Given the description of an element on the screen output the (x, y) to click on. 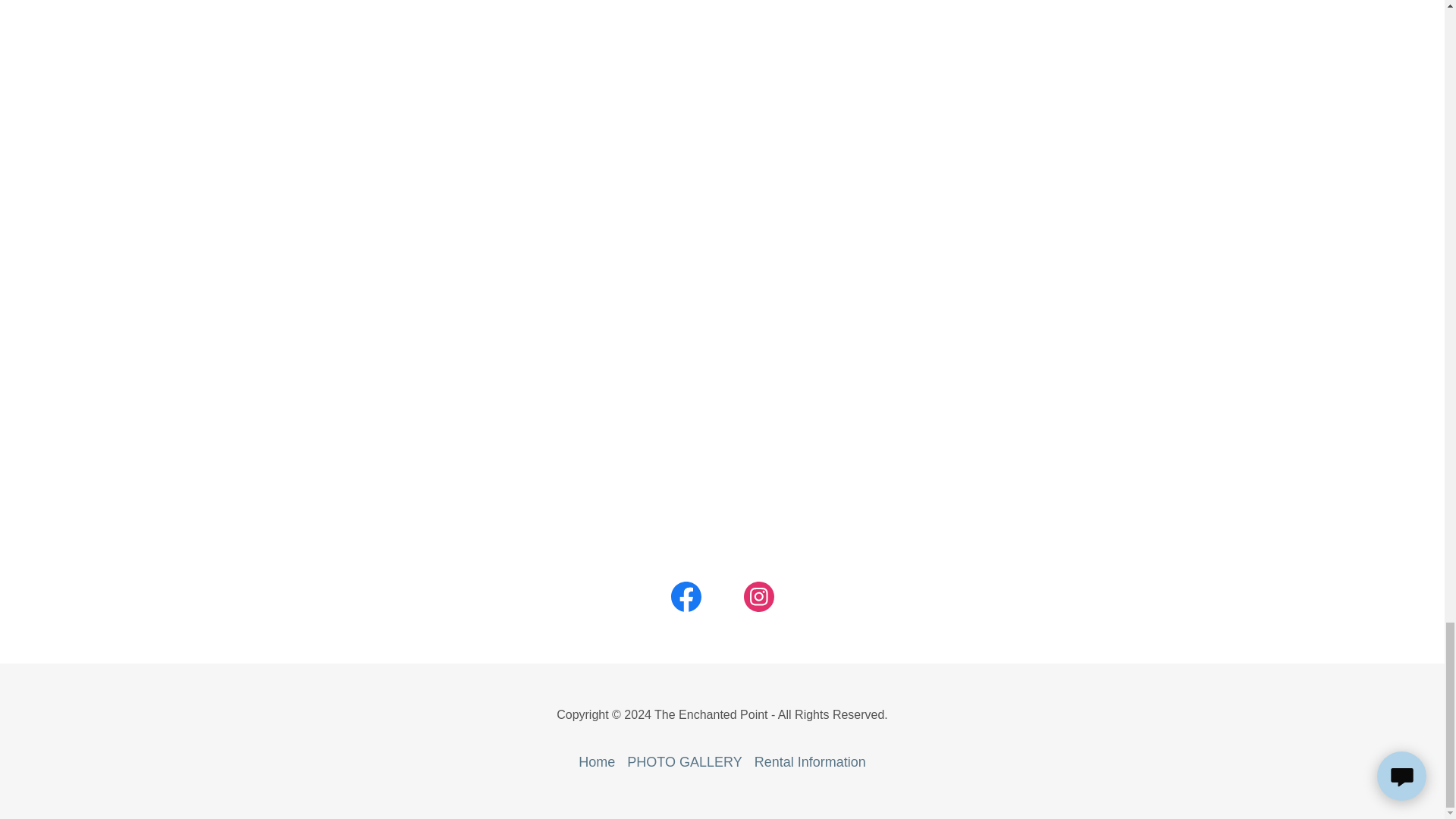
Home (596, 762)
Rental Information (810, 762)
PHOTO GALLERY (684, 762)
